Given the description of an element on the screen output the (x, y) to click on. 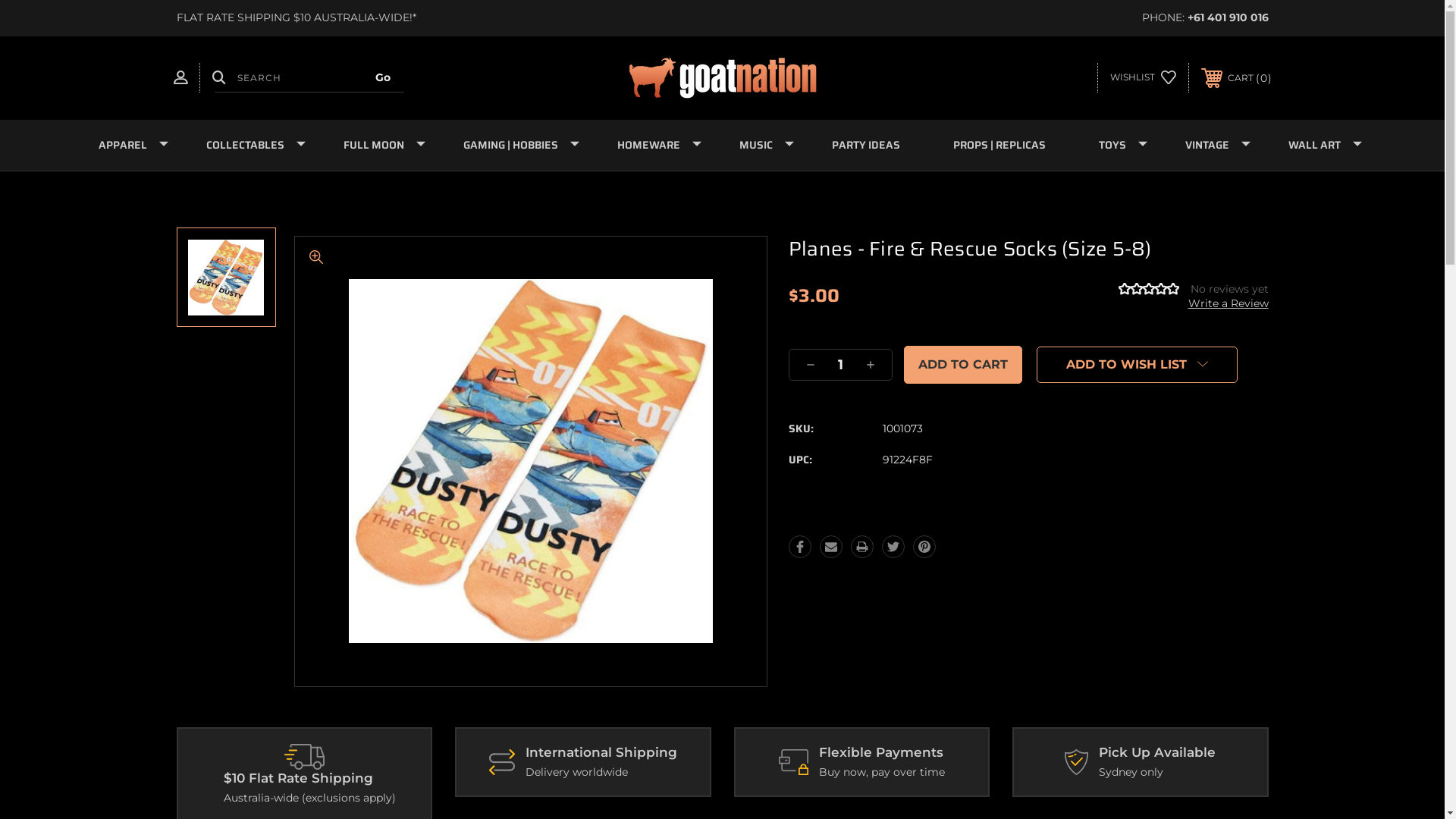
WALL ART Element type: text (1317, 145)
CART 0 Element type: text (1236, 77)
Planes - Fire & Rescue Socks (Size 5-8) Element type: hover (225, 276)
Write a Review Element type: text (1227, 303)
MUSIC Element type: text (758, 145)
ADD TO WISH LIST Element type: text (1136, 364)
Pick Up Available Element type: hover (1076, 762)
+61 401 910 016 Element type: text (1227, 17)
$10 Flat Rate Shipping Element type: hover (304, 756)
Flexible Payments Element type: hover (793, 762)
International Shipping Element type: hover (501, 762)
COLLECTABLES Element type: text (247, 145)
Planes - Fire & Rescue Socks (Size 5-8) Element type: hover (530, 461)
HOMEWARE Element type: text (650, 145)
Print Element type: hover (861, 546)
Pinterest Element type: hover (924, 546)
Twitter Element type: hover (892, 546)
PARTY IDEAS Element type: text (865, 145)
Increase Quantity: Element type: text (870, 364)
PROPS | REPLICAS Element type: text (999, 145)
Decrease Quantity: Element type: text (810, 364)
GAMING | HOBBIES Element type: text (513, 145)
GoatNation Element type: hover (722, 77)
FULL MOON Element type: text (376, 145)
Go Element type: text (381, 77)
VINTAGE Element type: text (1209, 145)
APPAREL Element type: text (124, 145)
Email Element type: hover (830, 546)
WISHLIST Element type: text (1143, 77)
Facebook Element type: hover (799, 546)
Add to Cart Element type: text (962, 364)
TOYS Element type: text (1115, 145)
